Given the description of an element on the screen output the (x, y) to click on. 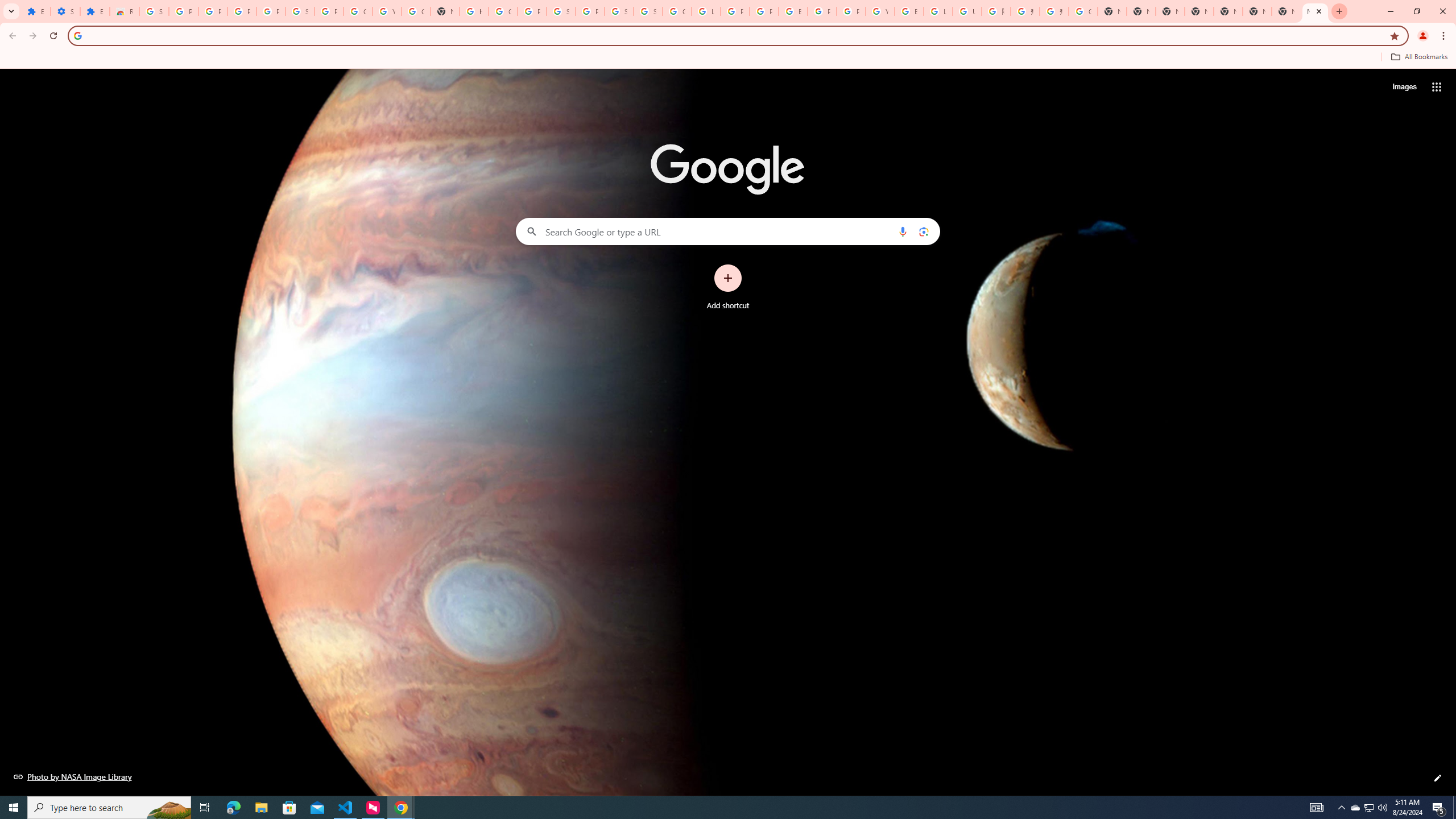
Bookmarks (728, 58)
Search icon (77, 35)
Sign in - Google Accounts (560, 11)
Privacy Help Center - Policies Help (763, 11)
Google Account (357, 11)
Search for Images  (1403, 87)
